Given the description of an element on the screen output the (x, y) to click on. 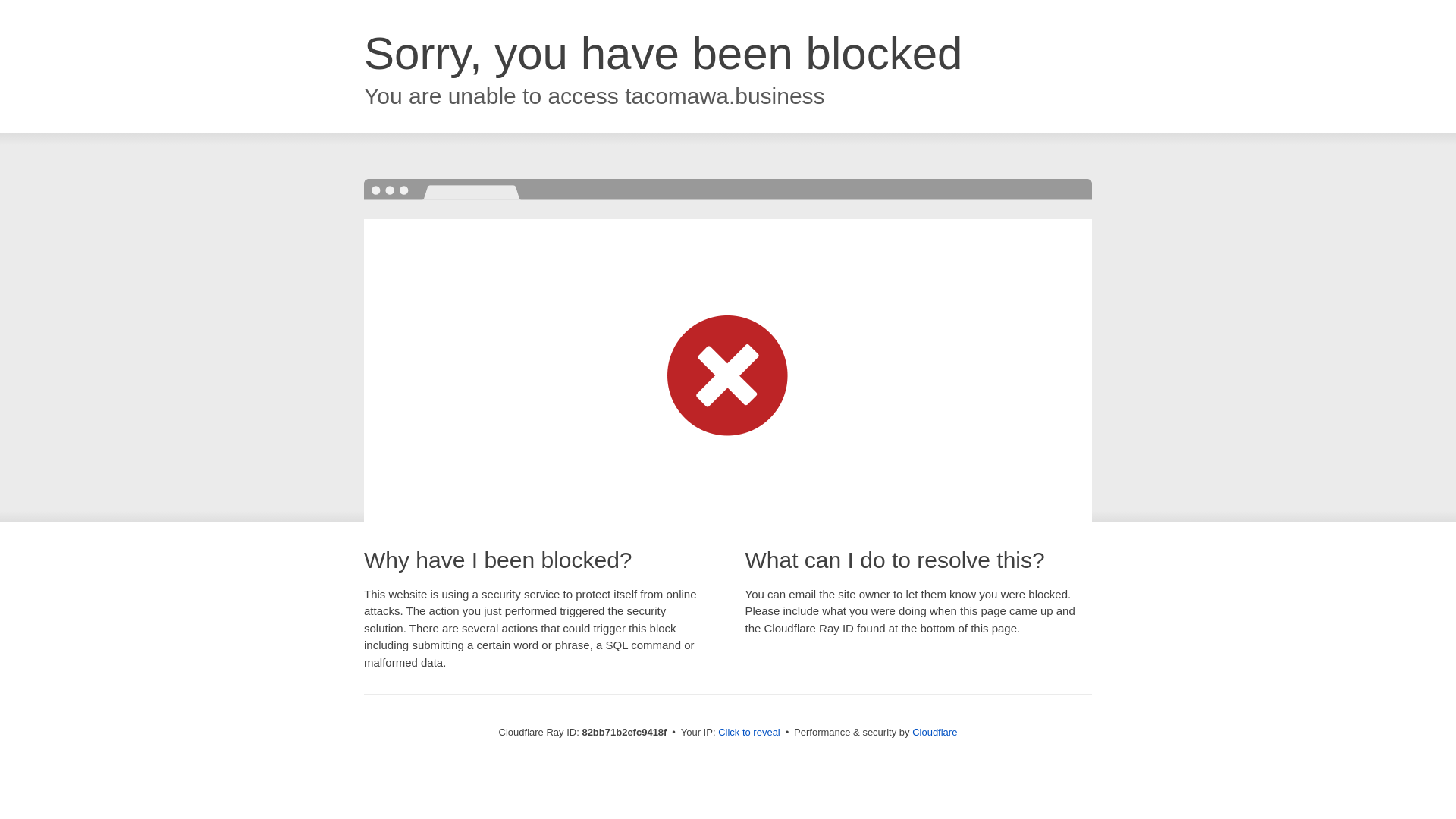
Cloudflare Element type: text (934, 731)
Click to reveal Element type: text (749, 732)
